Given the description of an element on the screen output the (x, y) to click on. 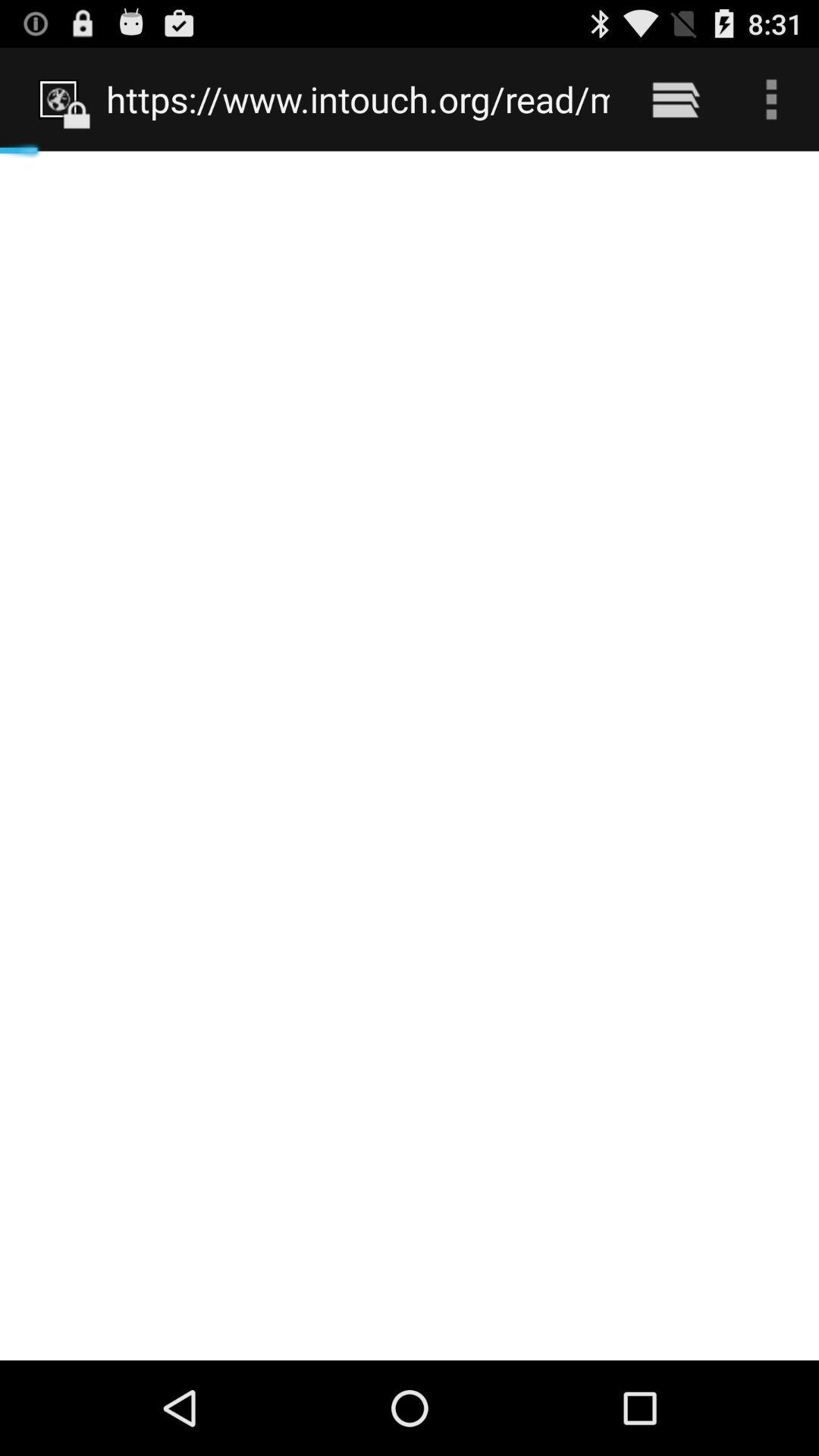
select the item at the center (409, 755)
